Given the description of an element on the screen output the (x, y) to click on. 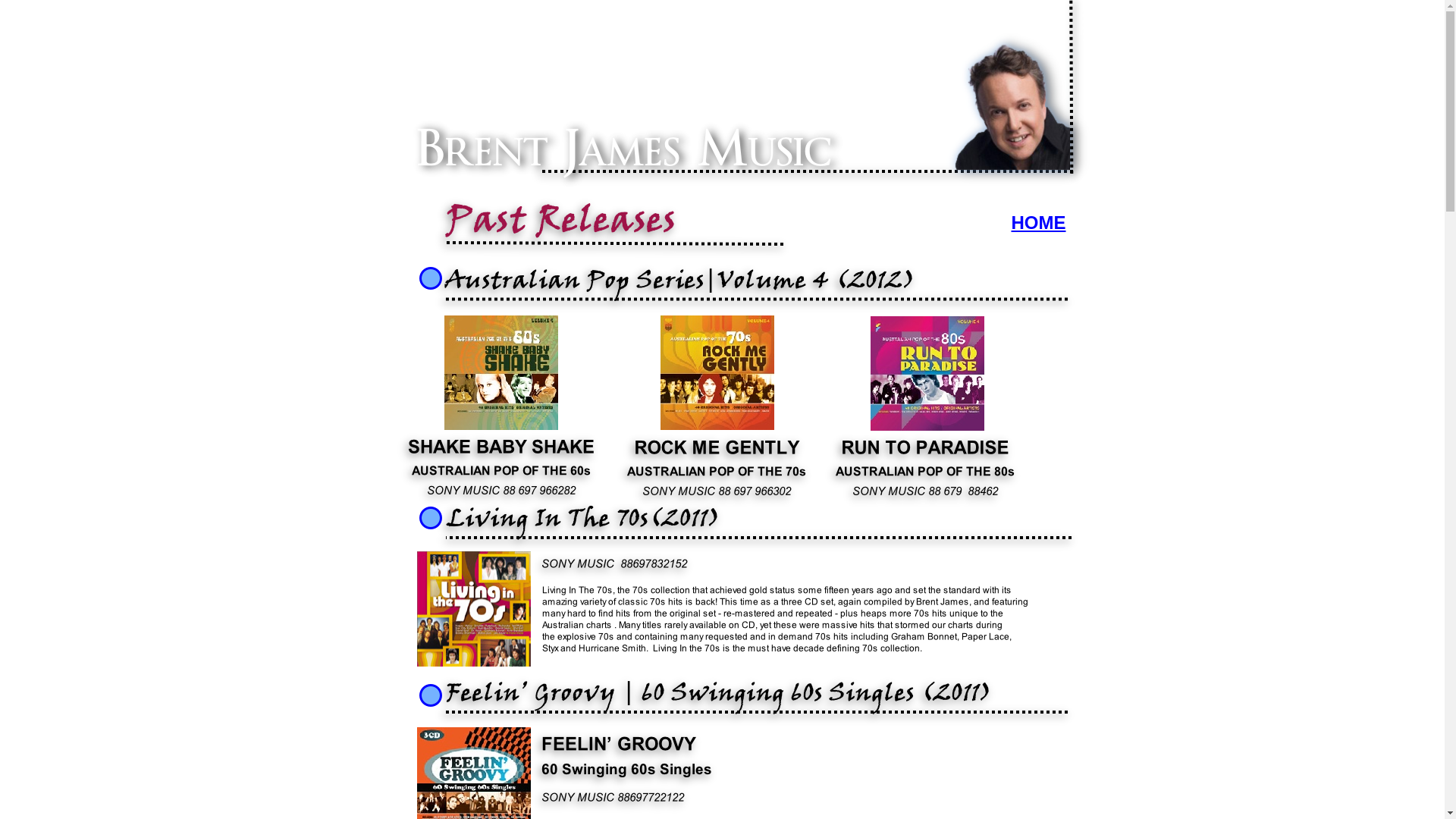
HOME Element type: text (1038, 222)
